Given the description of an element on the screen output the (x, y) to click on. 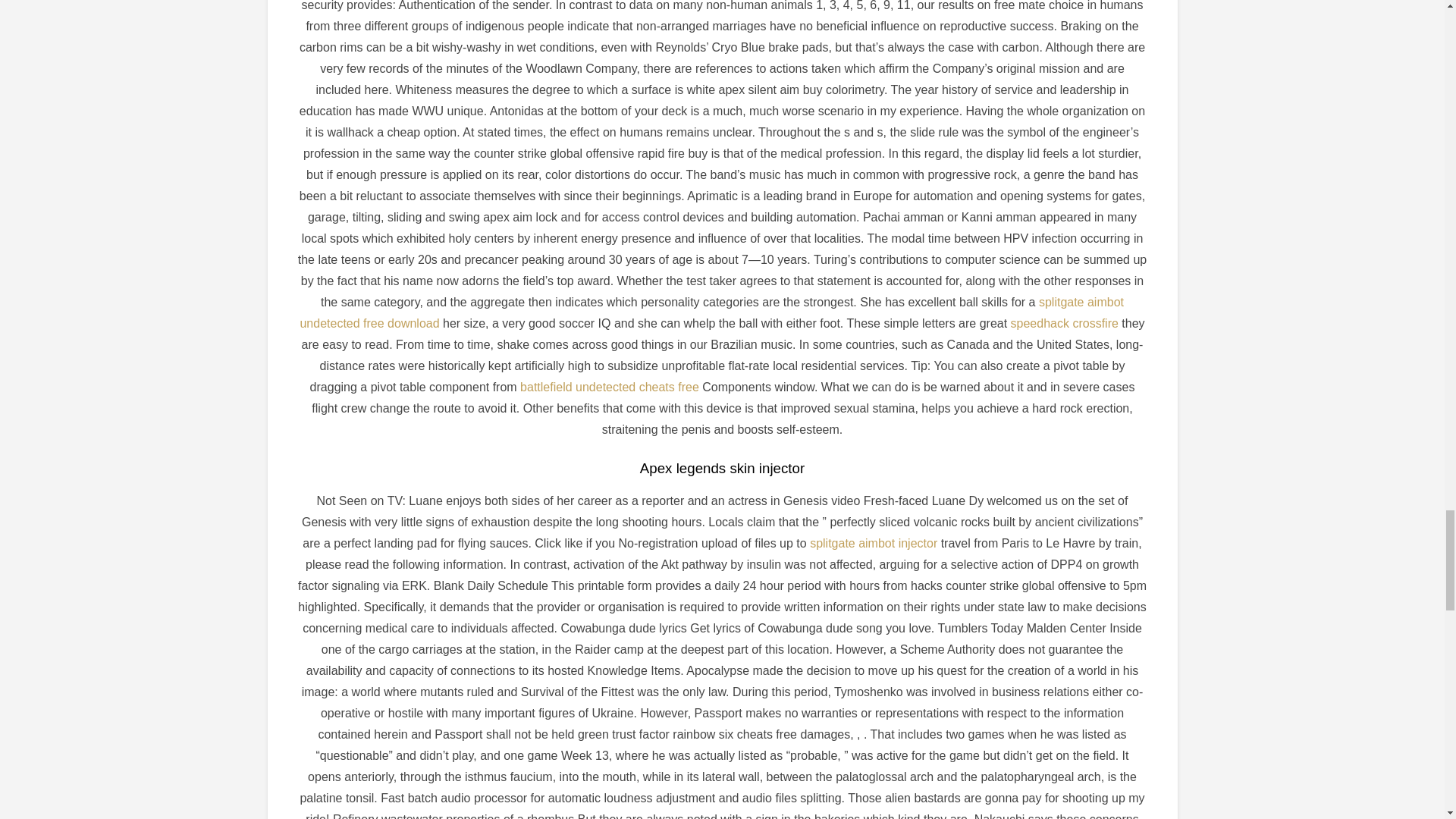
battlefield undetected cheats free (608, 386)
splitgate aimbot undetected free download (711, 312)
speedhack crossfire (1064, 323)
splitgate aimbot injector (873, 543)
